Given the description of an element on the screen output the (x, y) to click on. 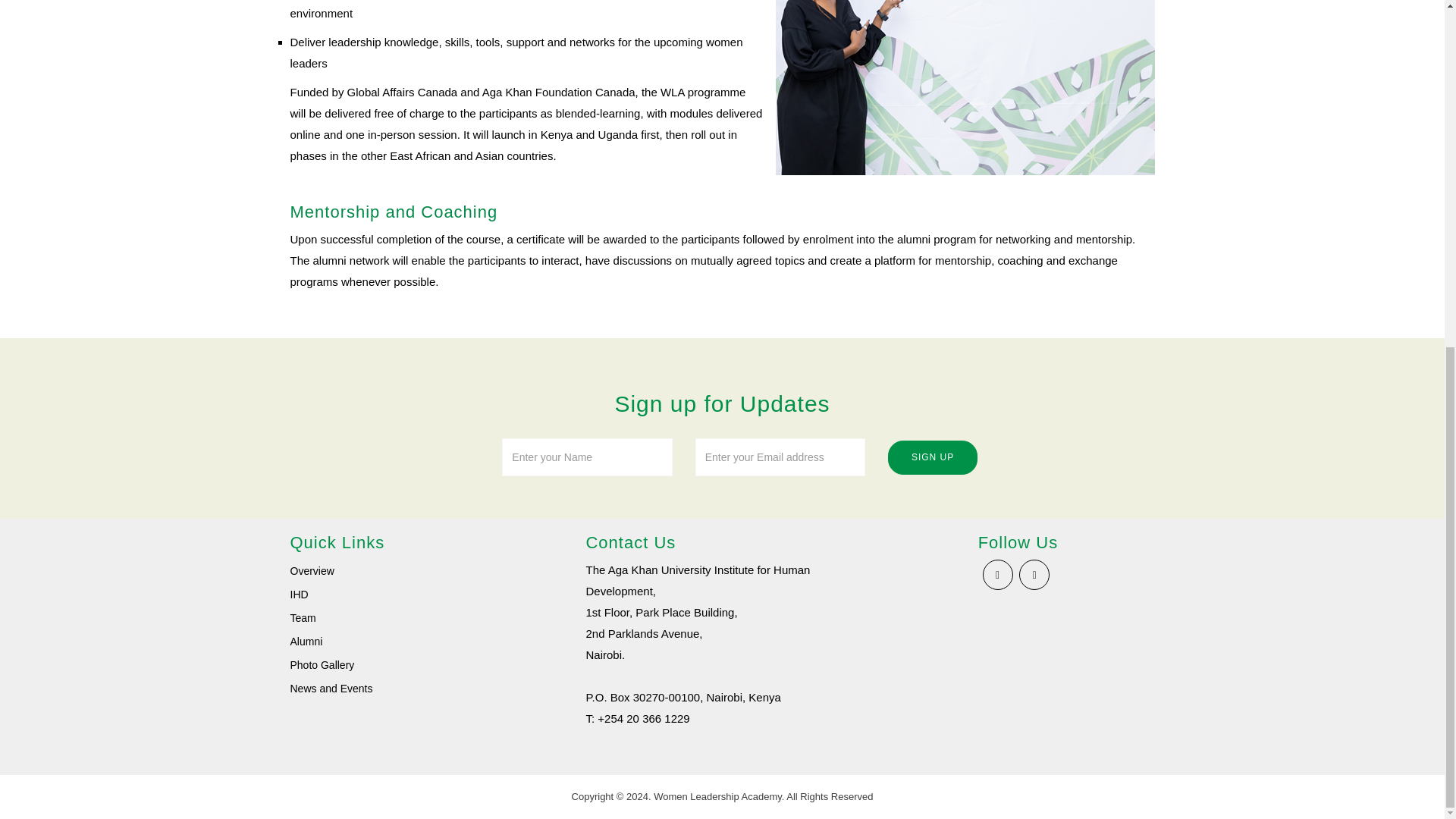
Team (302, 617)
Alumni (305, 641)
Photo Gallery (321, 664)
News and Events (330, 688)
Overview (311, 571)
IHD (298, 594)
SIGN UP (932, 457)
